Given the description of an element on the screen output the (x, y) to click on. 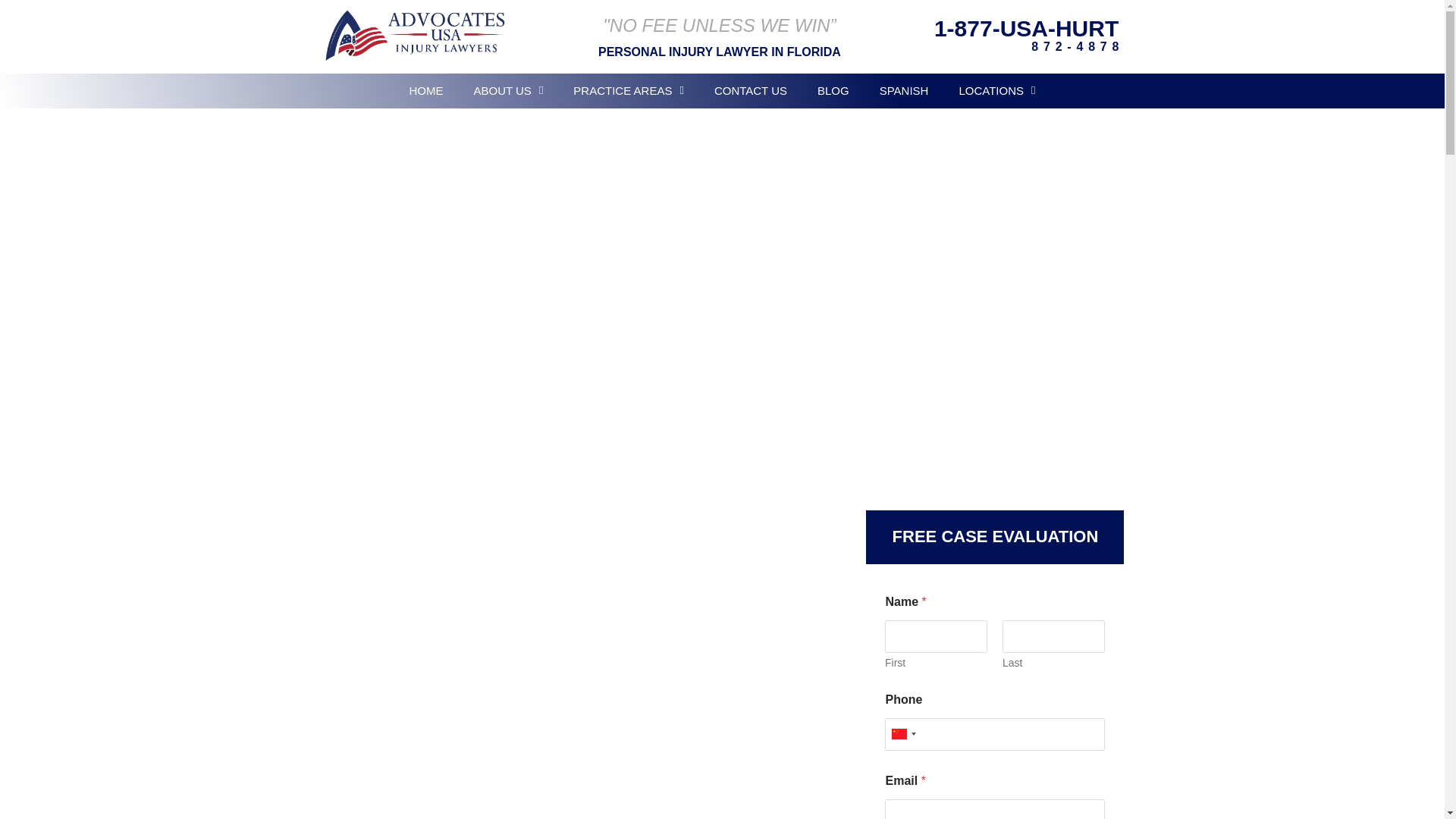
LOCATIONS (996, 90)
PRACTICE AREAS (627, 90)
ABOUT US (507, 90)
CONTACT US (750, 90)
BLOG (833, 90)
HOME (425, 90)
SPANISH (903, 90)
